Given the description of an element on the screen output the (x, y) to click on. 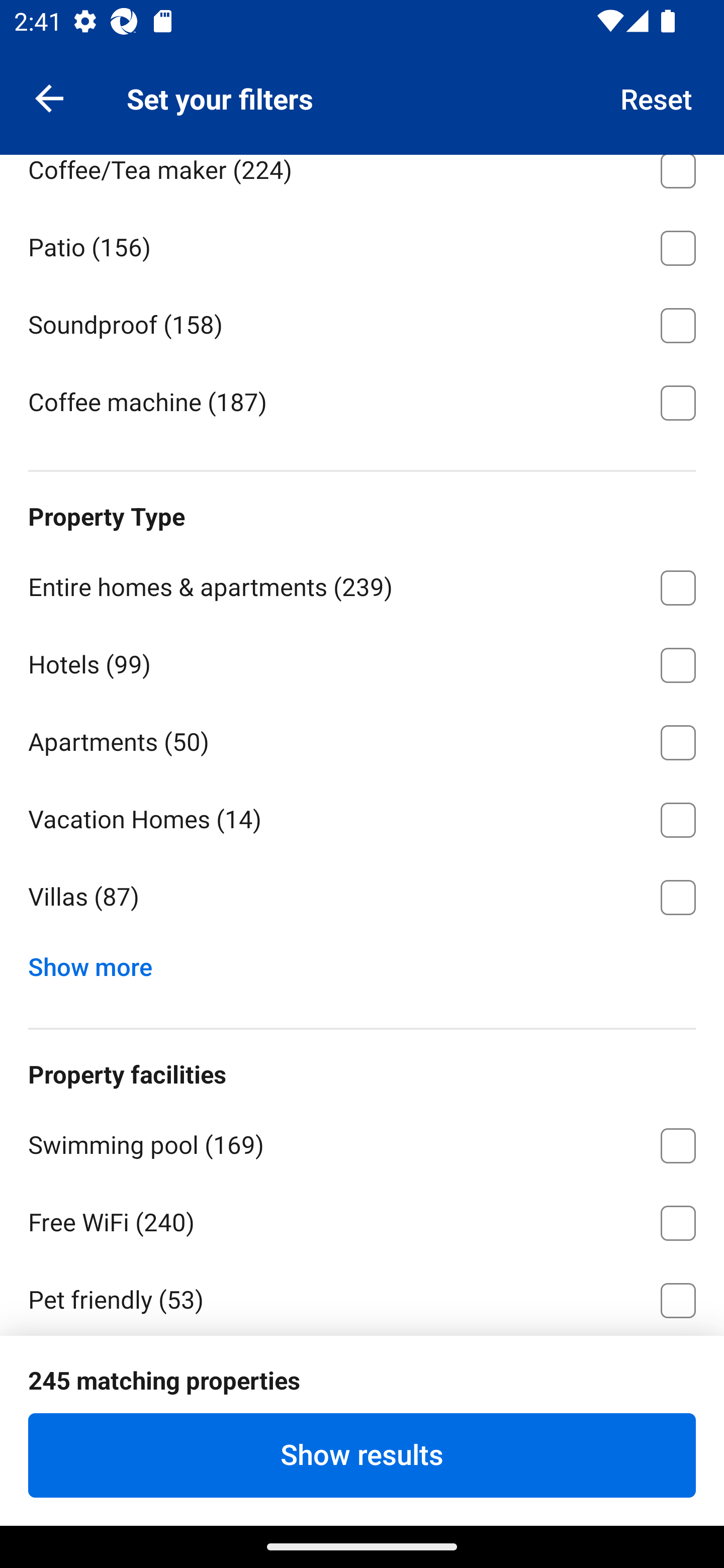
Navigate up (49, 97)
Electric kettle ⁦(184) (361, 89)
Reset (656, 97)
Coffee/Tea maker ⁦(224) (361, 180)
Patio ⁦(156) (361, 244)
Soundproof ⁦(158) (361, 321)
Coffee machine ⁦(187) (361, 401)
Entire homes & apartments ⁦(239) (361, 583)
Hotels ⁦(99) (361, 661)
Apartments ⁦(50) (361, 738)
Vacation Homes ⁦(14) (361, 816)
Villas ⁦(87) (361, 897)
Show more (97, 962)
Swimming pool ⁦(169) (361, 1141)
Free WiFi ⁦(240) (361, 1219)
Pet friendly ⁦(53) (361, 1297)
Free parking ⁦(195) (361, 1373)
Spa ⁦(50) (361, 1454)
